Given the description of an element on the screen output the (x, y) to click on. 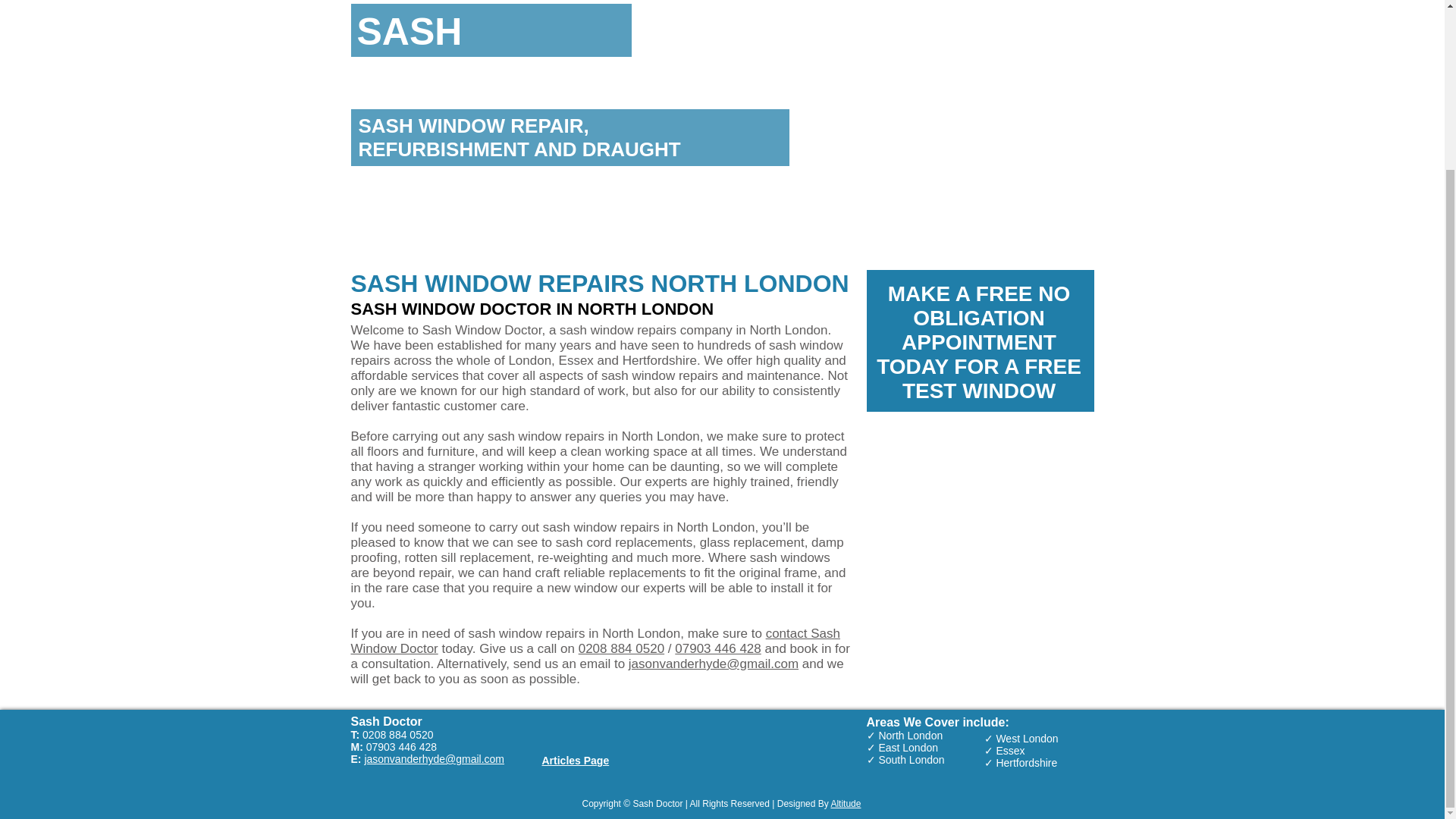
Altitude (844, 803)
07903 446 428 (717, 648)
0208 884 0520 (620, 648)
contact Sash Window Doctor (595, 641)
Articles Page (574, 760)
